Given the description of an element on the screen output the (x, y) to click on. 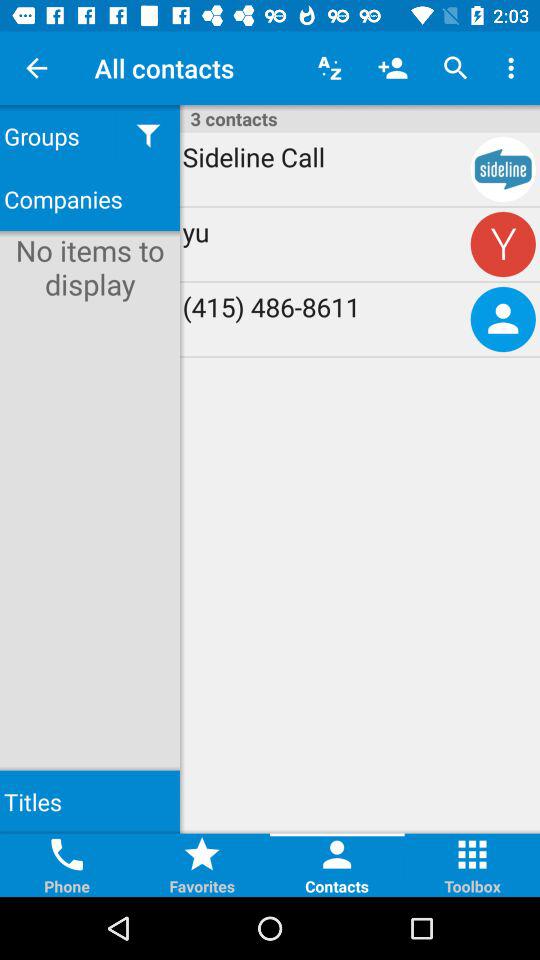
open the icon below groups item (90, 198)
